Given the description of an element on the screen output the (x, y) to click on. 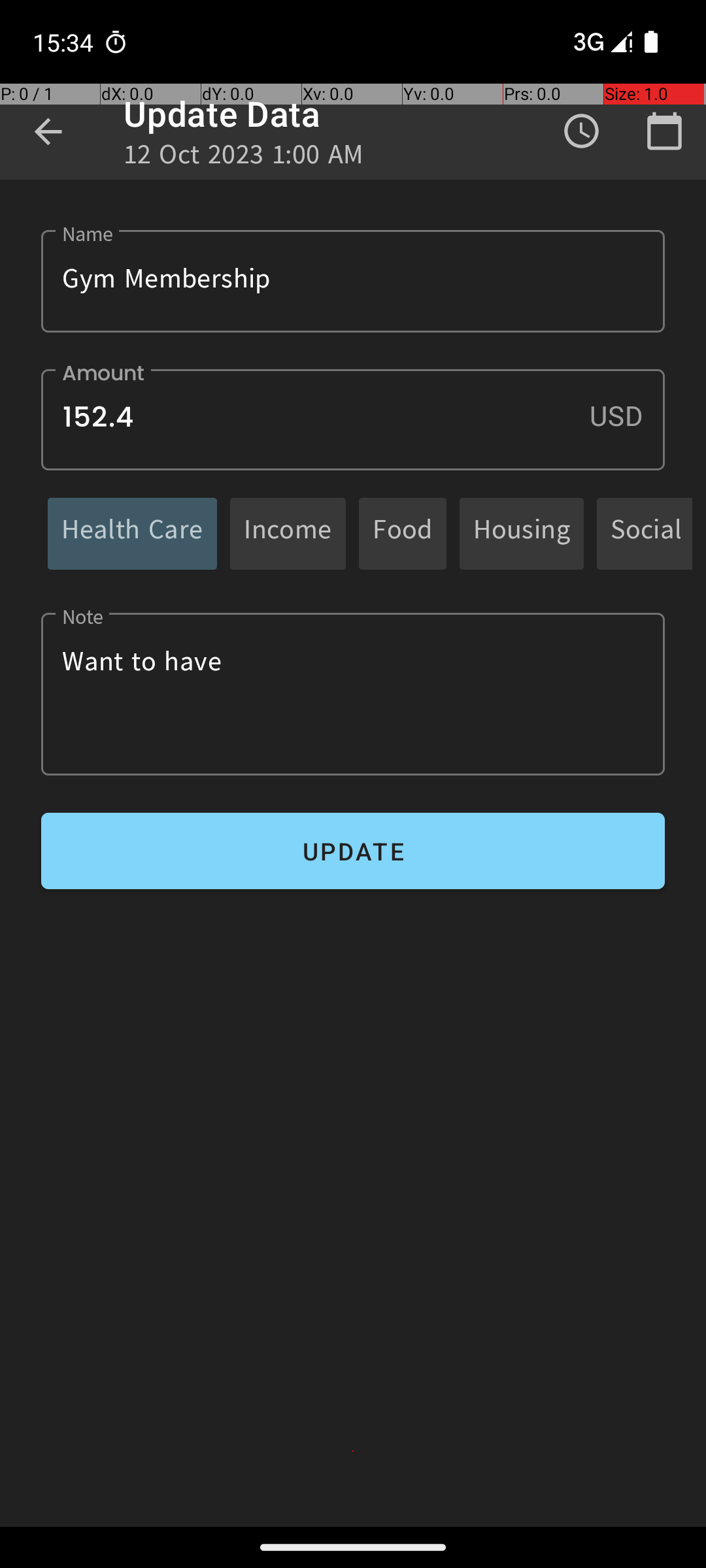
12 Oct 2023 1:00 AM Element type: android.widget.TextView (243, 157)
Gym Membership Element type: android.widget.EditText (352, 280)
152.4 Element type: android.widget.EditText (352, 419)
Health Care Element type: android.widget.TextView (132, 533)
